Given the description of an element on the screen output the (x, y) to click on. 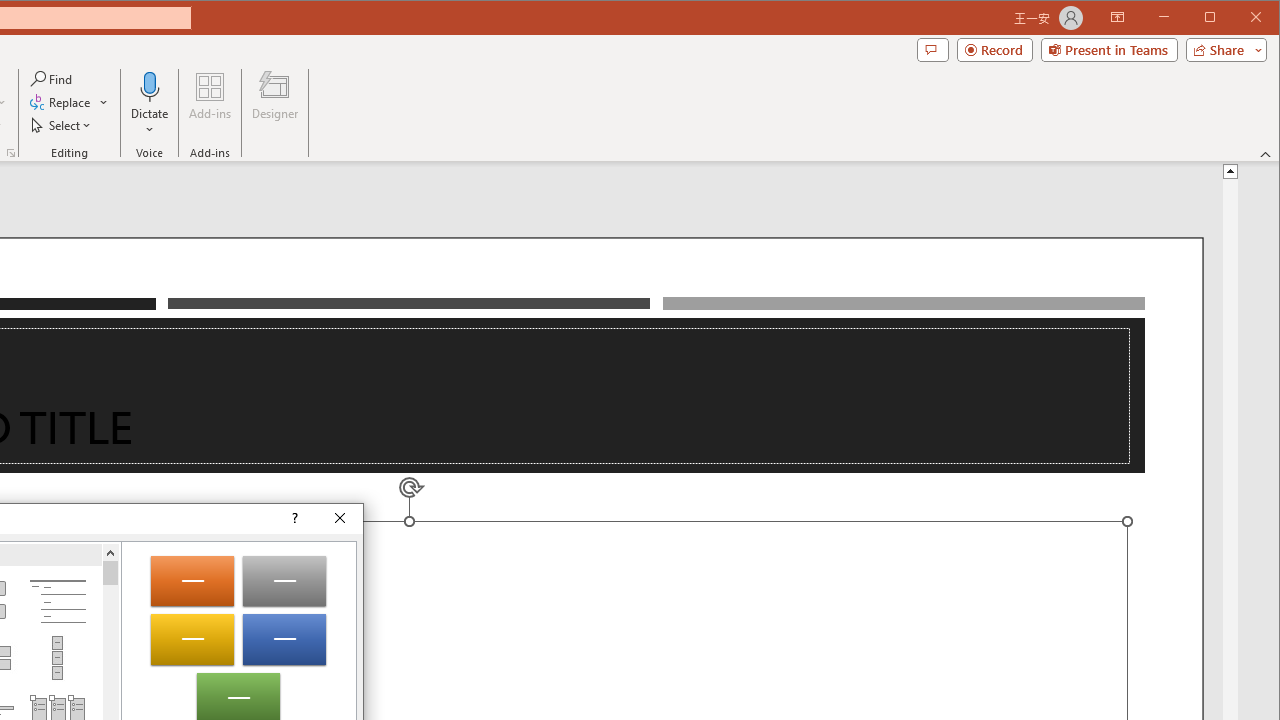
Varying Width List (57, 658)
Maximize (1238, 18)
